Given the description of an element on the screen output the (x, y) to click on. 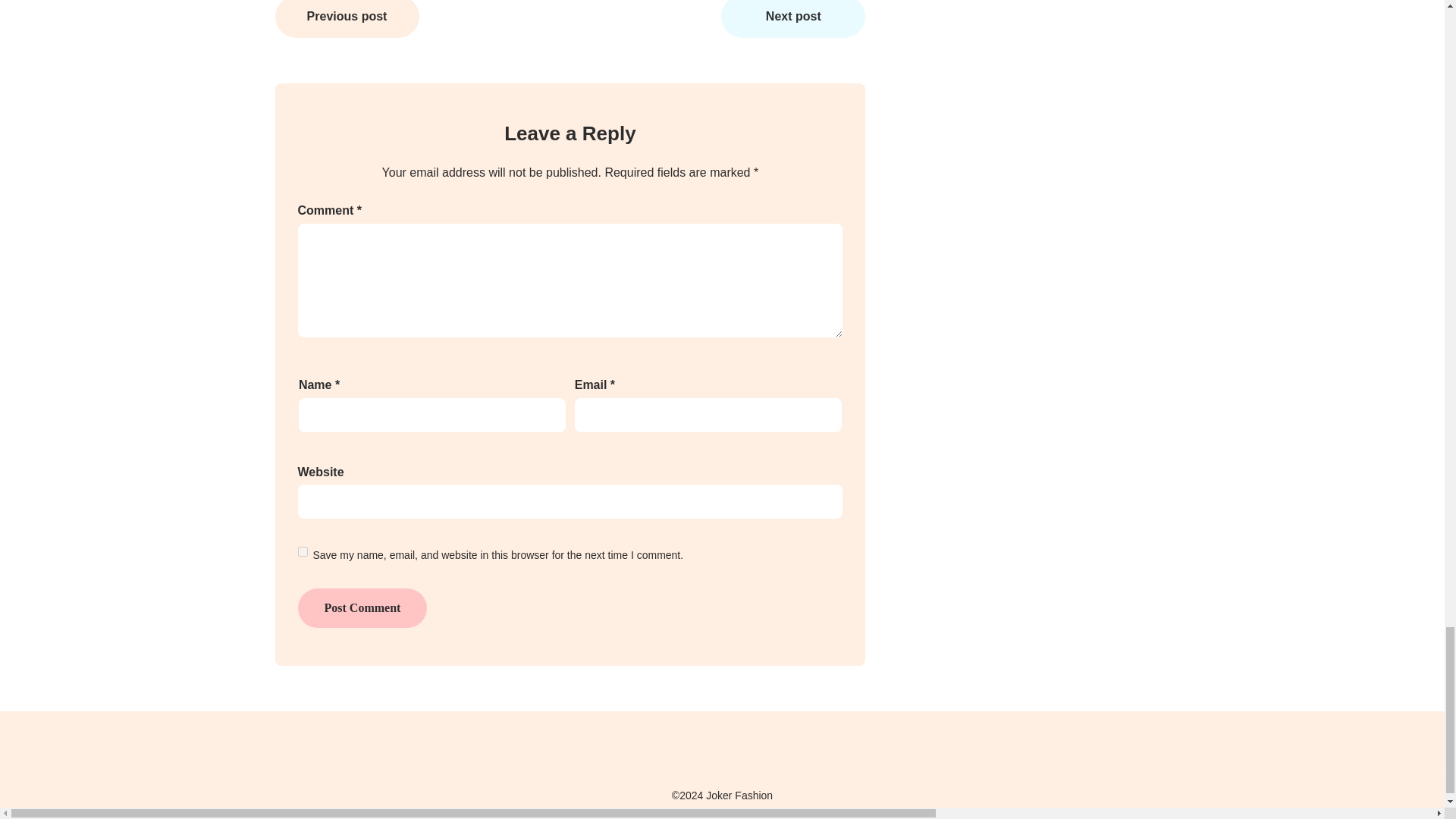
Post Comment (361, 608)
yes (302, 551)
Previous post (347, 18)
Next post (792, 18)
Post Comment (361, 608)
